Given the description of an element on the screen output the (x, y) to click on. 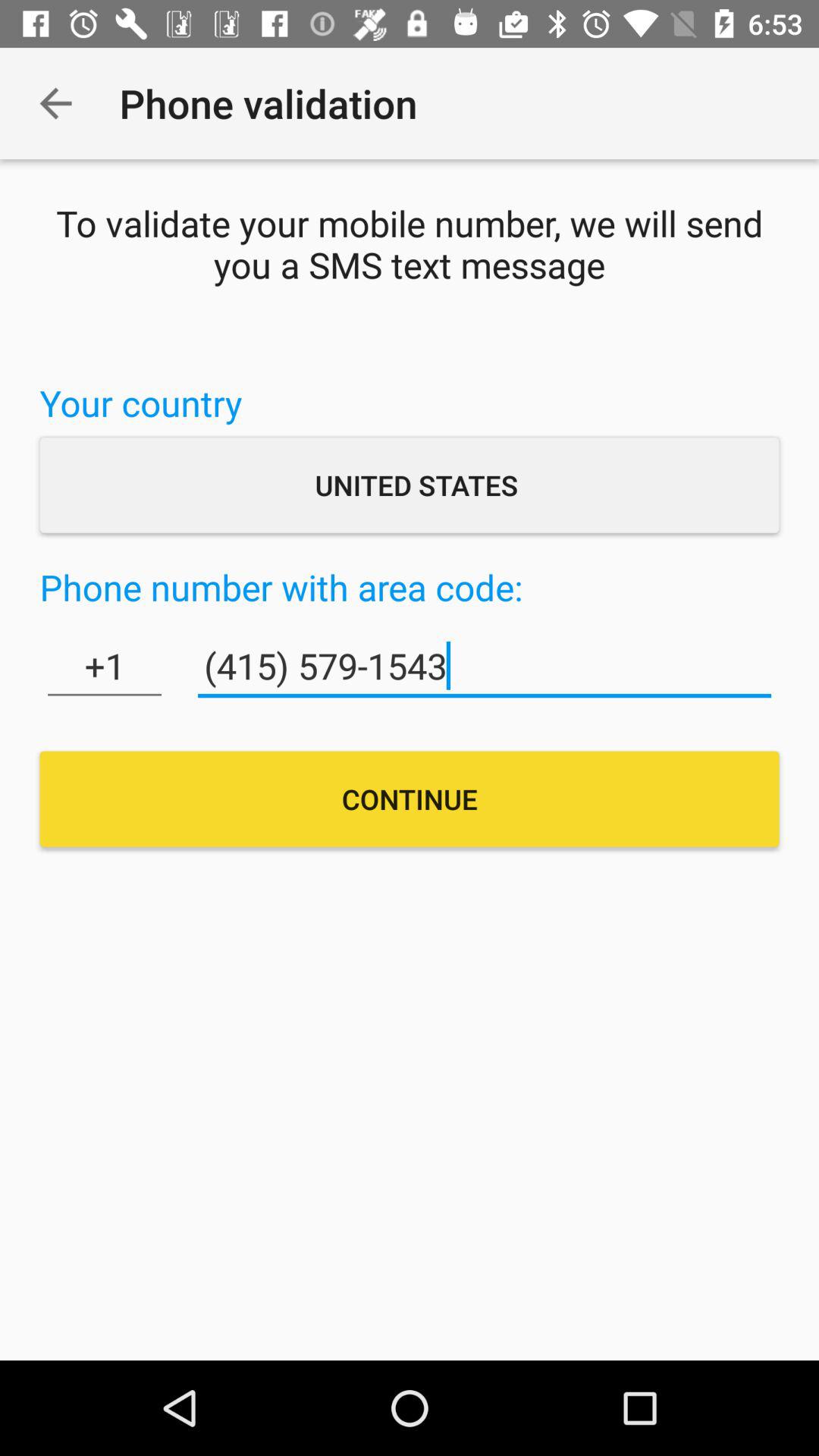
press the (415) 579-1543 icon (484, 666)
